Given the description of an element on the screen output the (x, y) to click on. 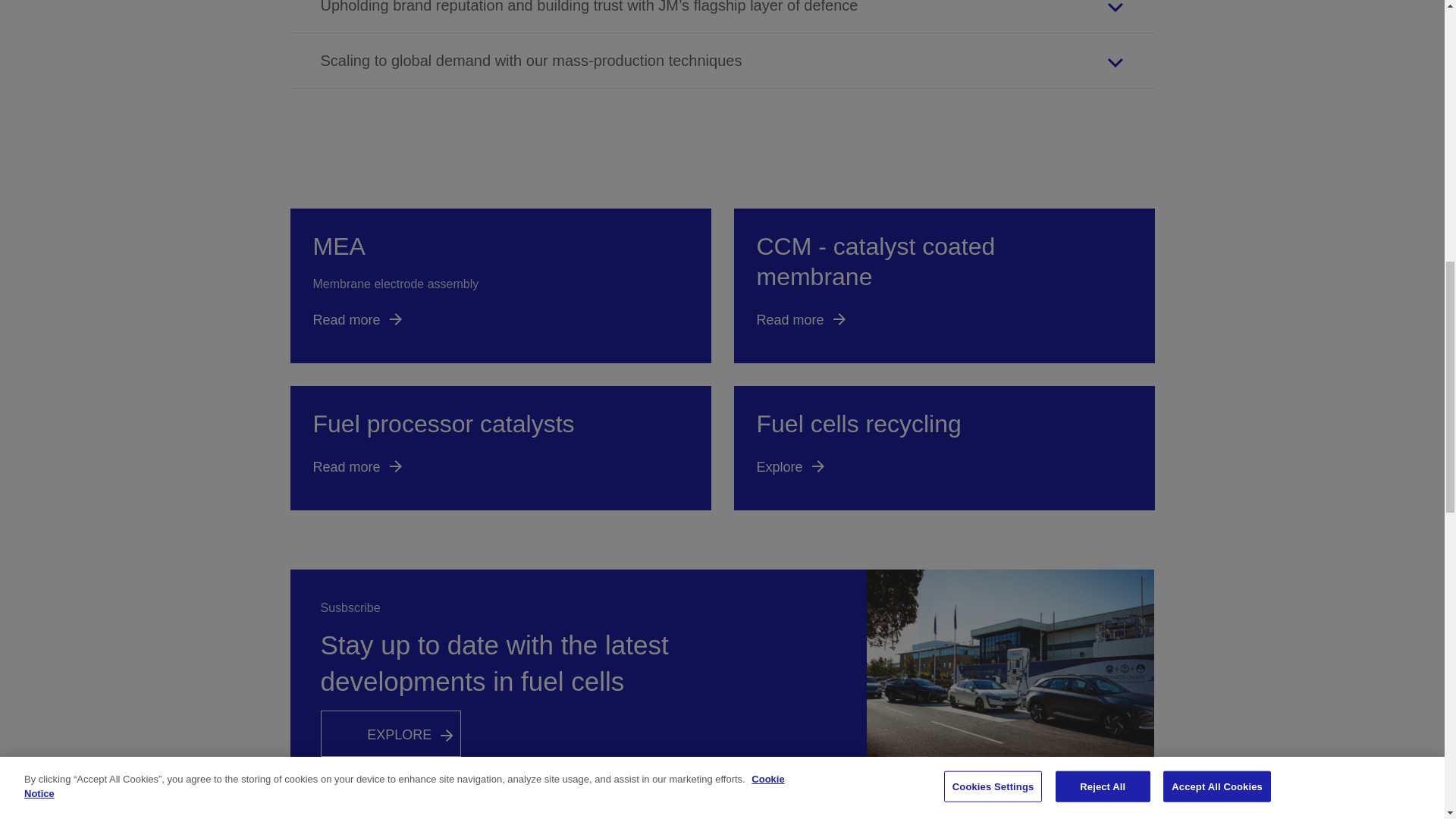
CCM - catalyst coated membrane (943, 285)
MEA (499, 285)
Explore (390, 733)
Fuel cells recycling (943, 447)
Fuel processor catalysts (499, 447)
